Given the description of an element on the screen output the (x, y) to click on. 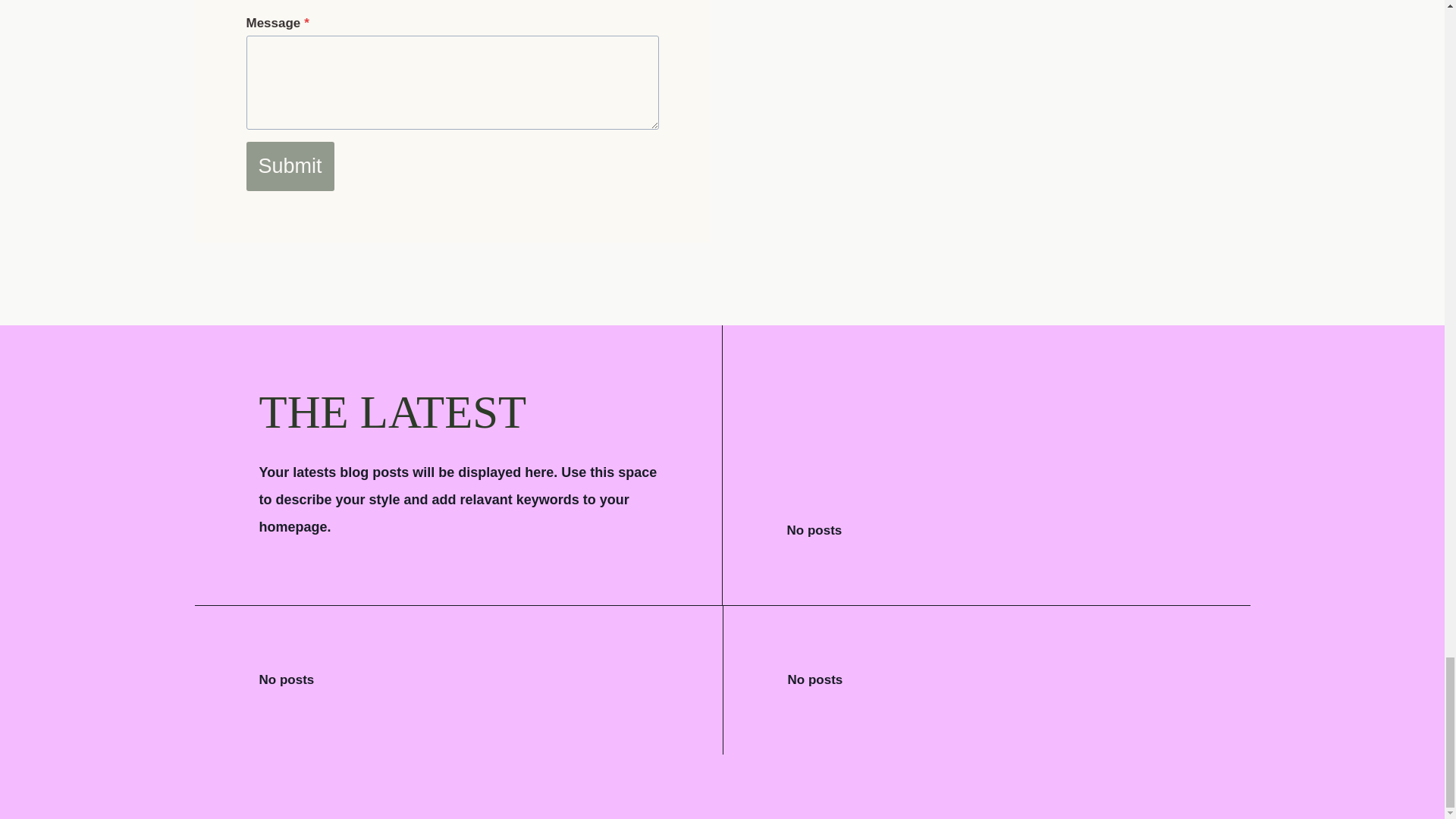
Submit (289, 165)
